Given the description of an element on the screen output the (x, y) to click on. 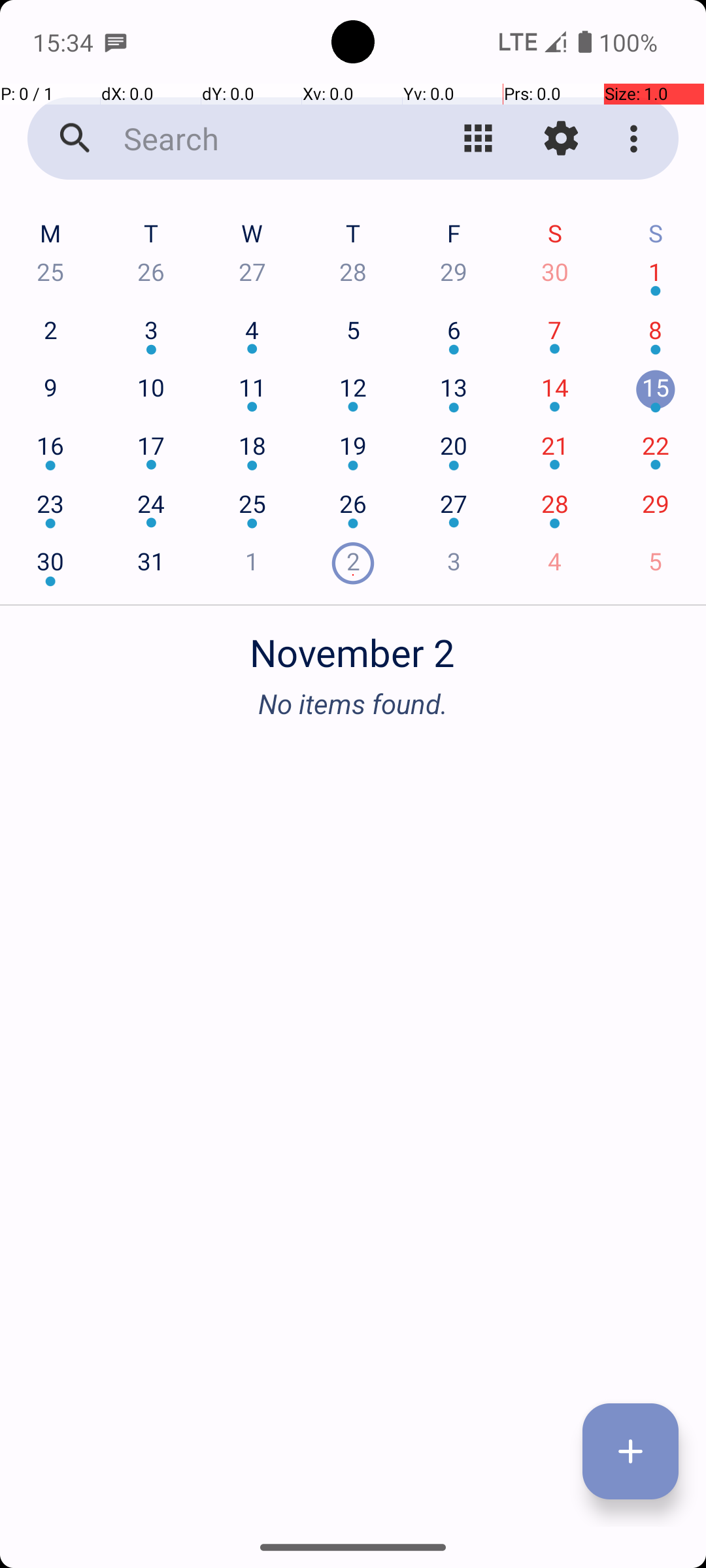
November 2 Element type: android.widget.TextView (352, 644)
